Given the description of an element on the screen output the (x, y) to click on. 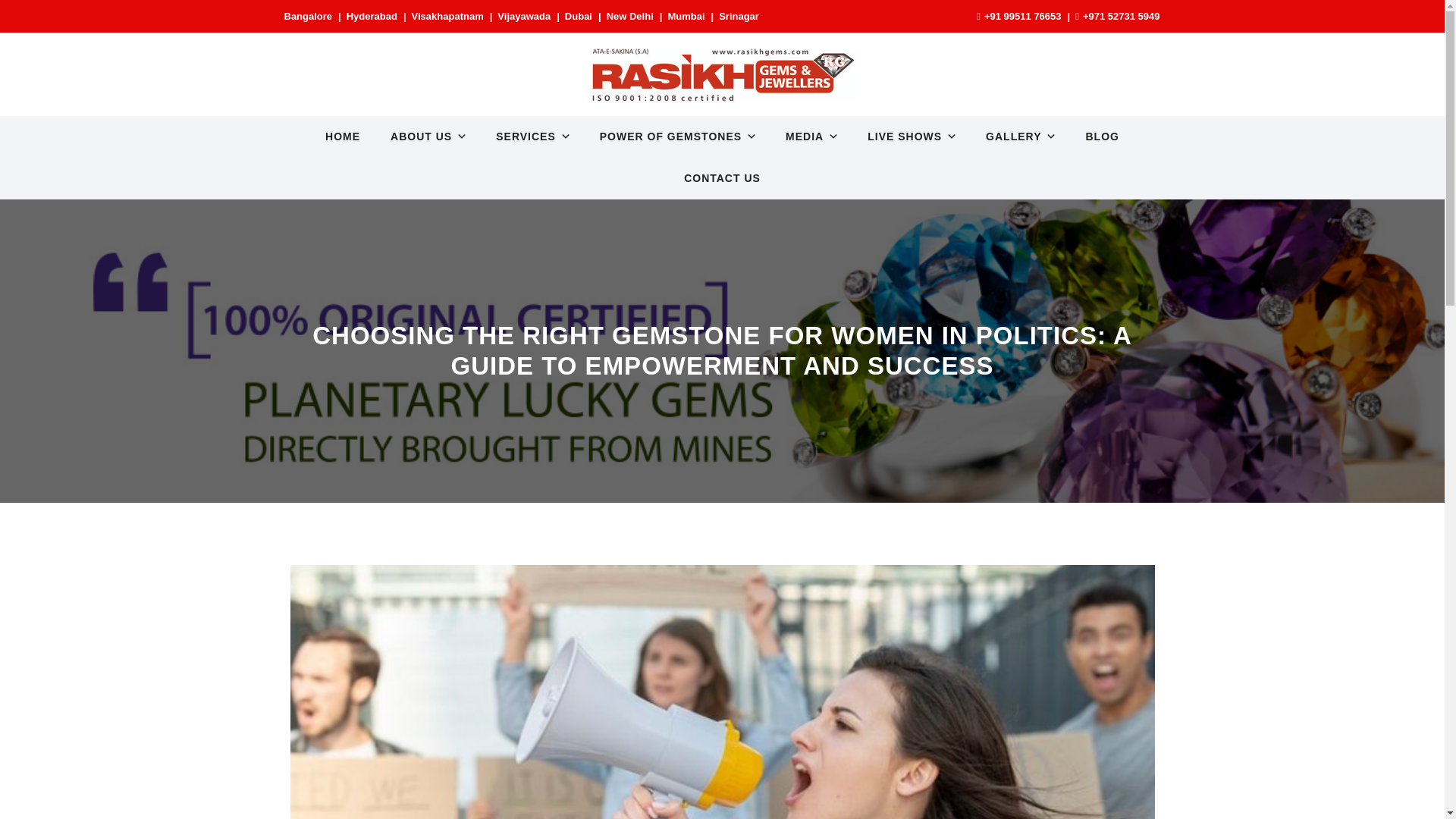
HOME (342, 136)
POWER OF GEMSTONES (677, 136)
Dubai (578, 16)
Bangalore (307, 16)
The Best Place to Buy Gemstones in INDIA and DUBAI (722, 74)
Hyderabad (371, 16)
ABOUT US (427, 136)
Srinagar (738, 16)
